Given the description of an element on the screen output the (x, y) to click on. 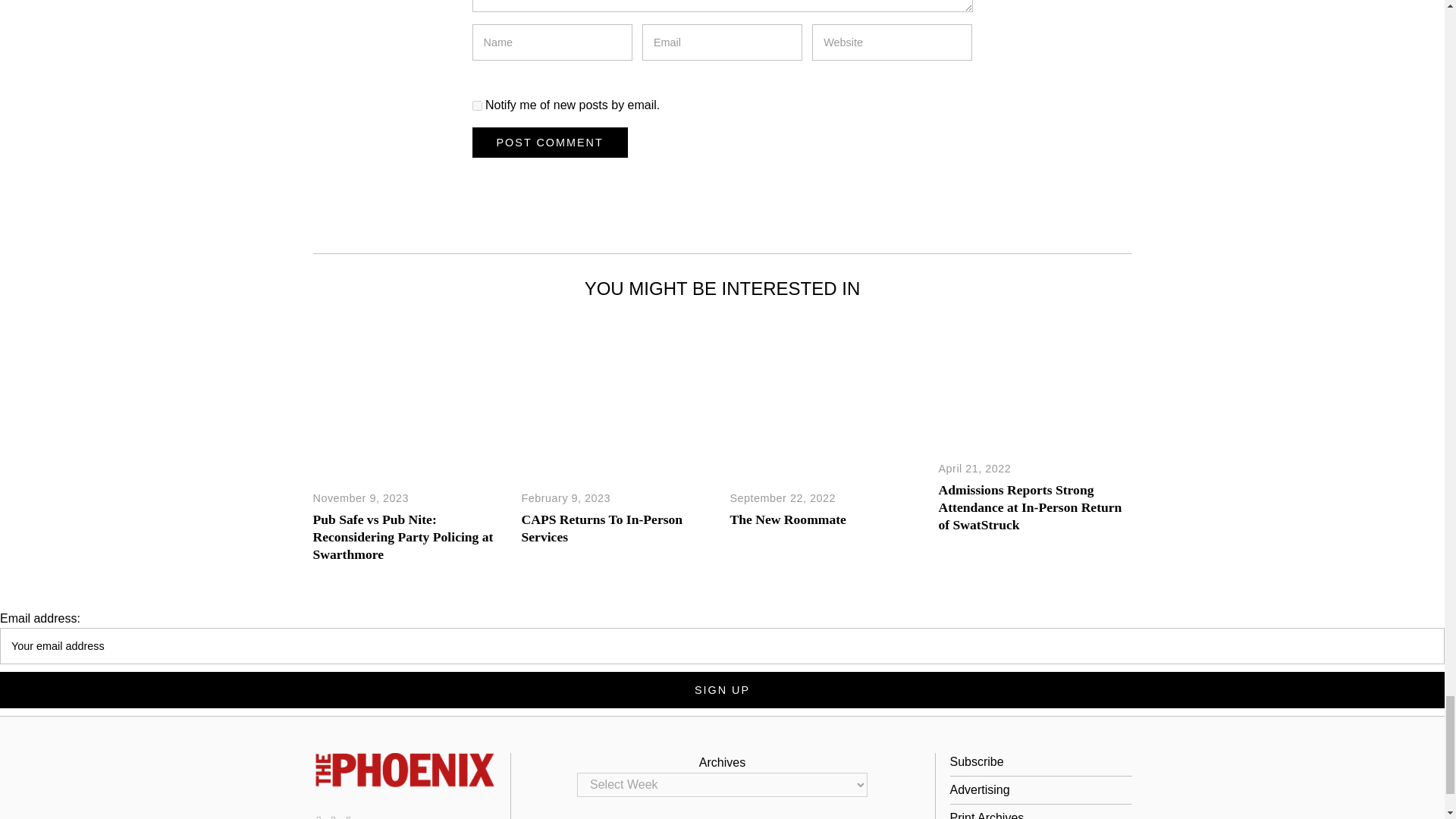
subscribe (476, 105)
Post Comment (549, 142)
